Given the description of an element on the screen output the (x, y) to click on. 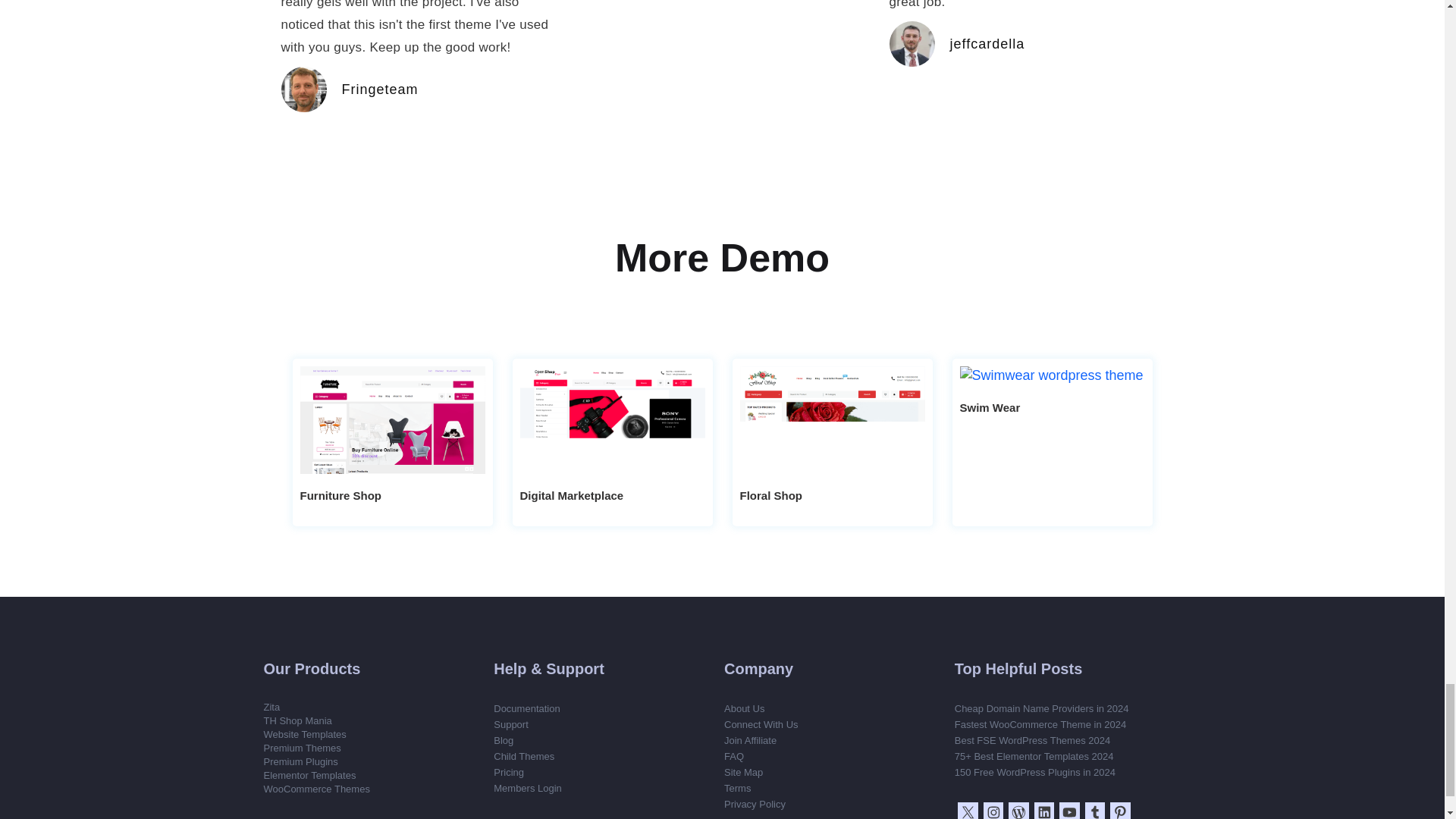
Digital Marketplace 12 (611, 420)
Furniture Shop 11 (391, 420)
Floral Shop 13 (831, 420)
Swim Wear 14 (1051, 375)
